Given the description of an element on the screen output the (x, y) to click on. 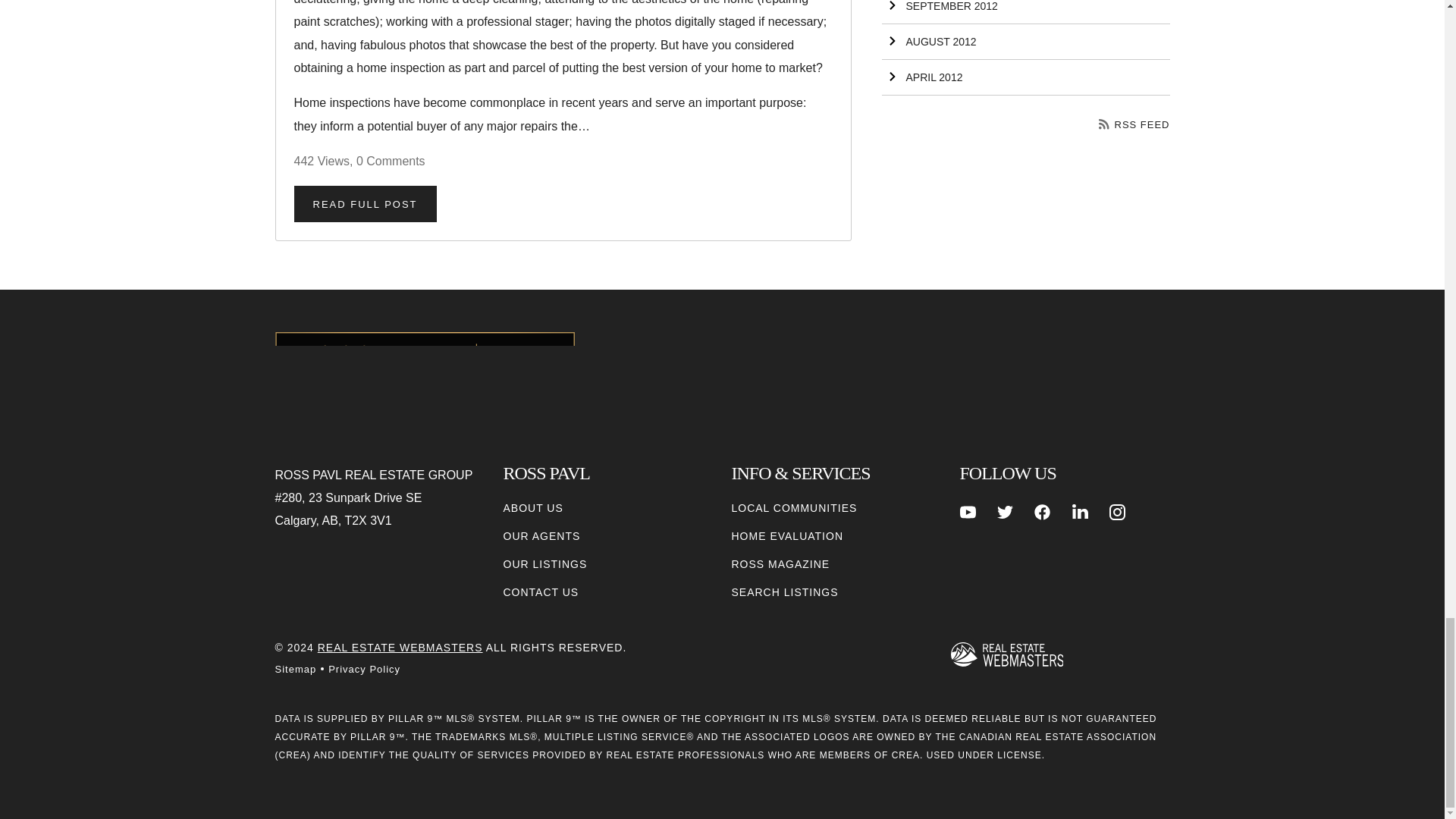
RSS FEED (1134, 124)
